Given the description of an element on the screen output the (x, y) to click on. 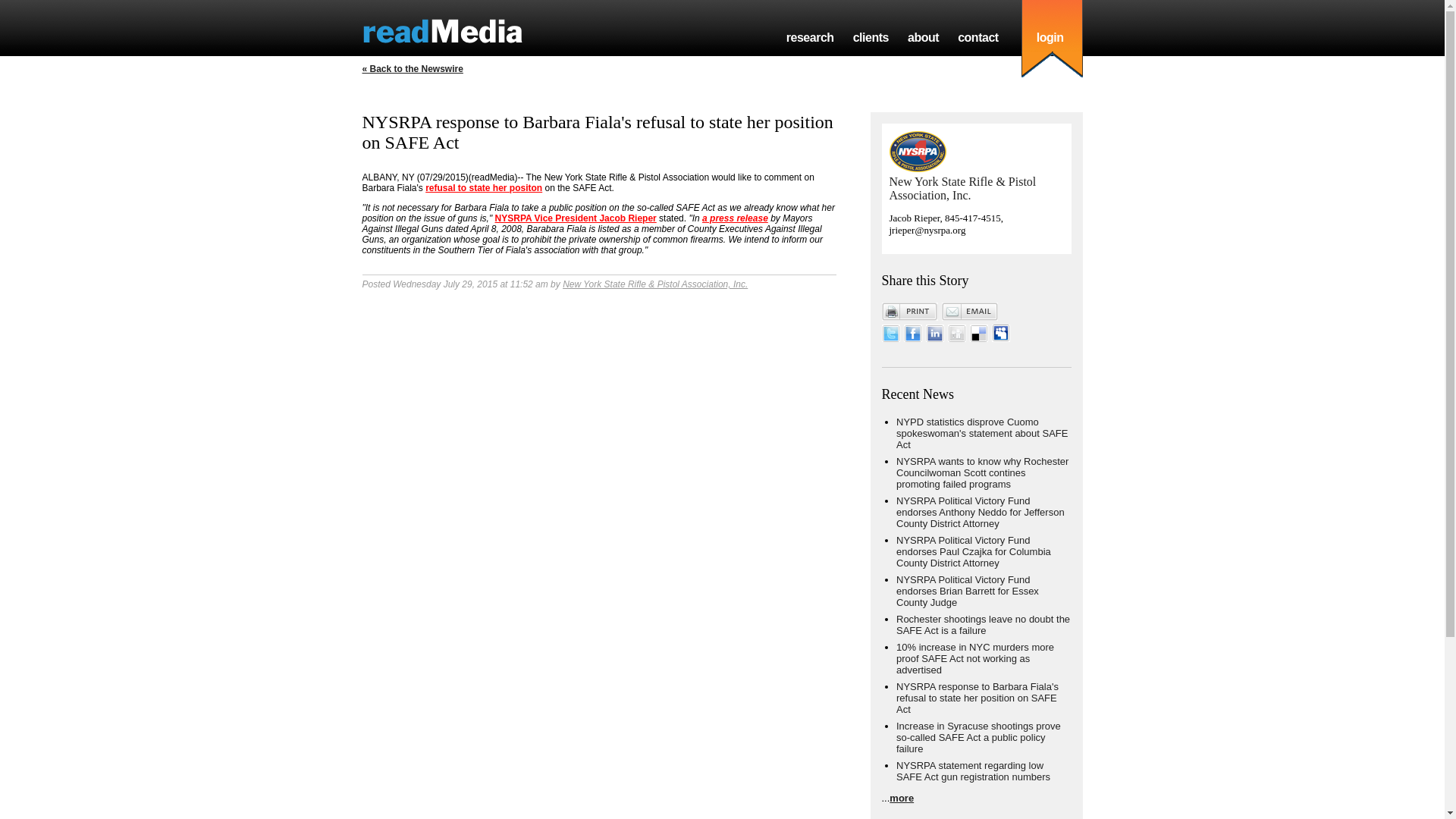
research (810, 37)
login (1050, 37)
Post to Delicious (978, 337)
Post to Facebook (912, 337)
refusal to state her positon (483, 187)
more (901, 797)
Post to LinkedIn (933, 337)
Post to Digg (956, 337)
contact (978, 37)
about (923, 37)
Print (908, 311)
